Given the description of an element on the screen output the (x, y) to click on. 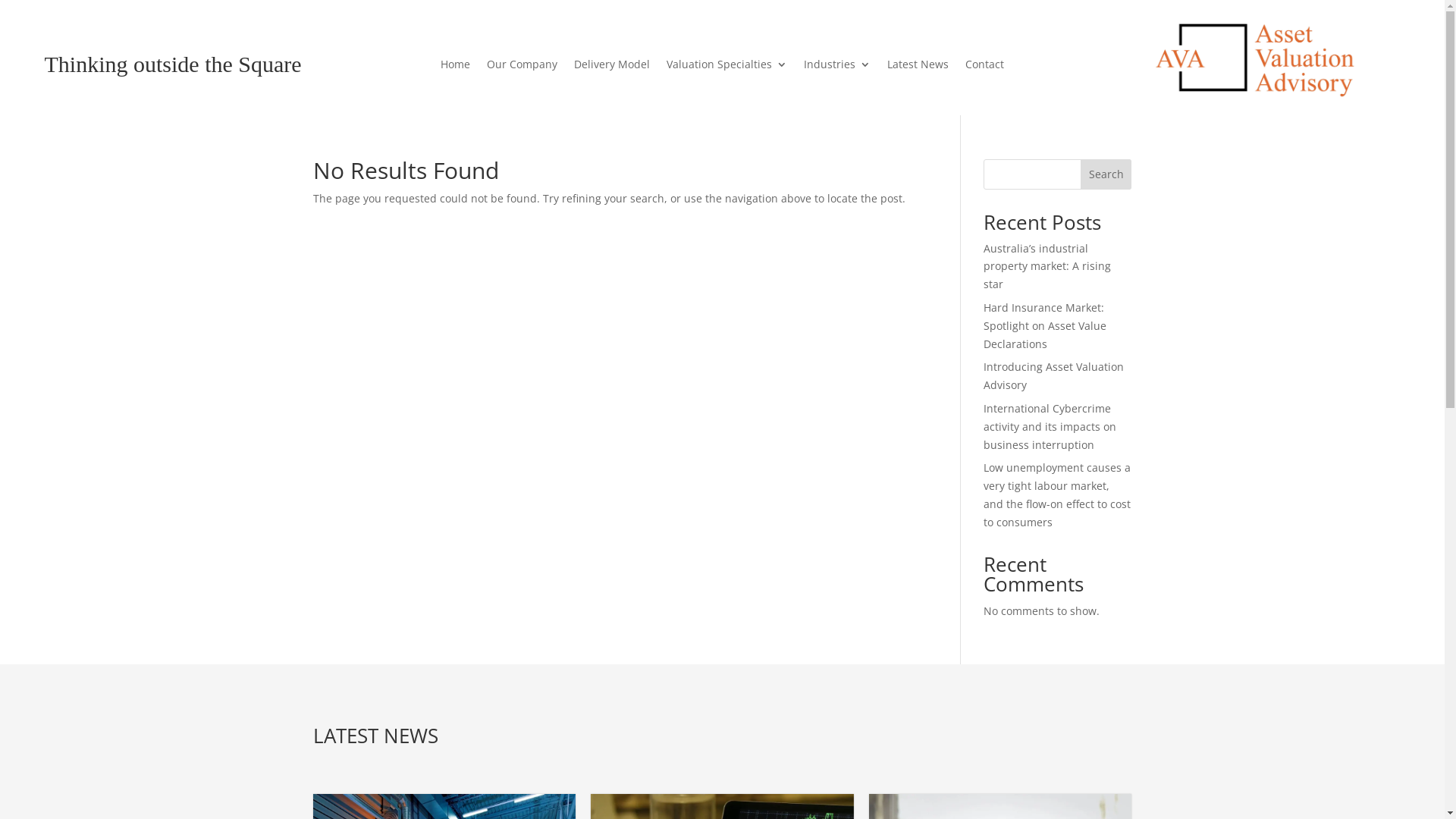
Delivery Model Element type: text (611, 67)
Contact Element type: text (984, 67)
Industries Element type: text (836, 67)
Hard Insurance Market: Spotlight on Asset Value Declarations Element type: text (1044, 325)
Search Element type: text (1106, 174)
Introducing Asset Valuation Advisory Element type: text (1053, 375)
Valuation Specialties Element type: text (726, 67)
AVA Asset Valuation Advisory Logo 2023 - JPG RGB Element type: hover (1255, 57)
Latest News Element type: text (917, 67)
Our Company Element type: text (521, 67)
Home Element type: text (455, 67)
